Given the description of an element on the screen output the (x, y) to click on. 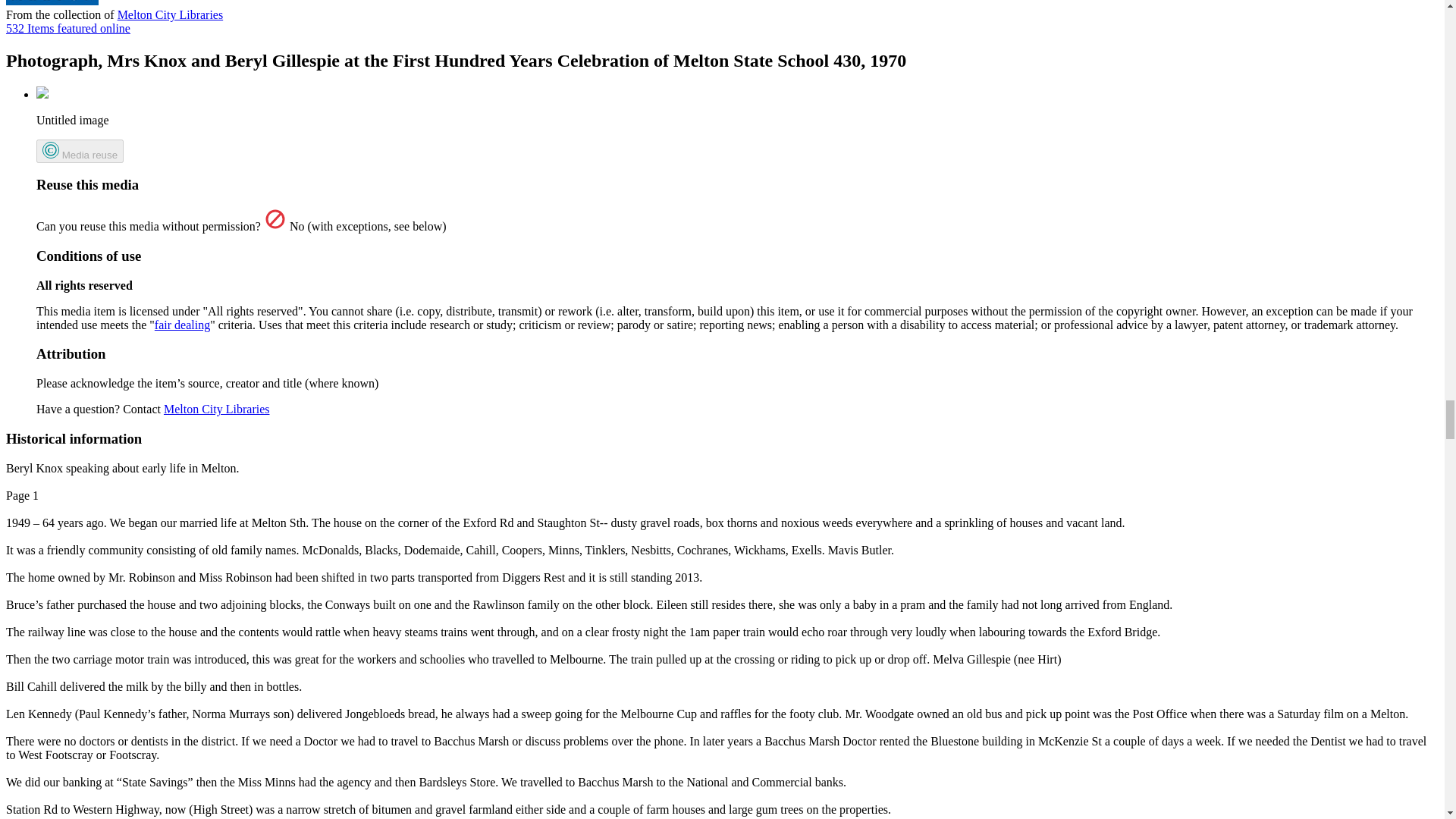
Melton City Libraries (170, 14)
532 Items featured online (68, 28)
fair dealing (79, 150)
Melton City Libraries (181, 324)
C (216, 408)
